Given the description of an element on the screen output the (x, y) to click on. 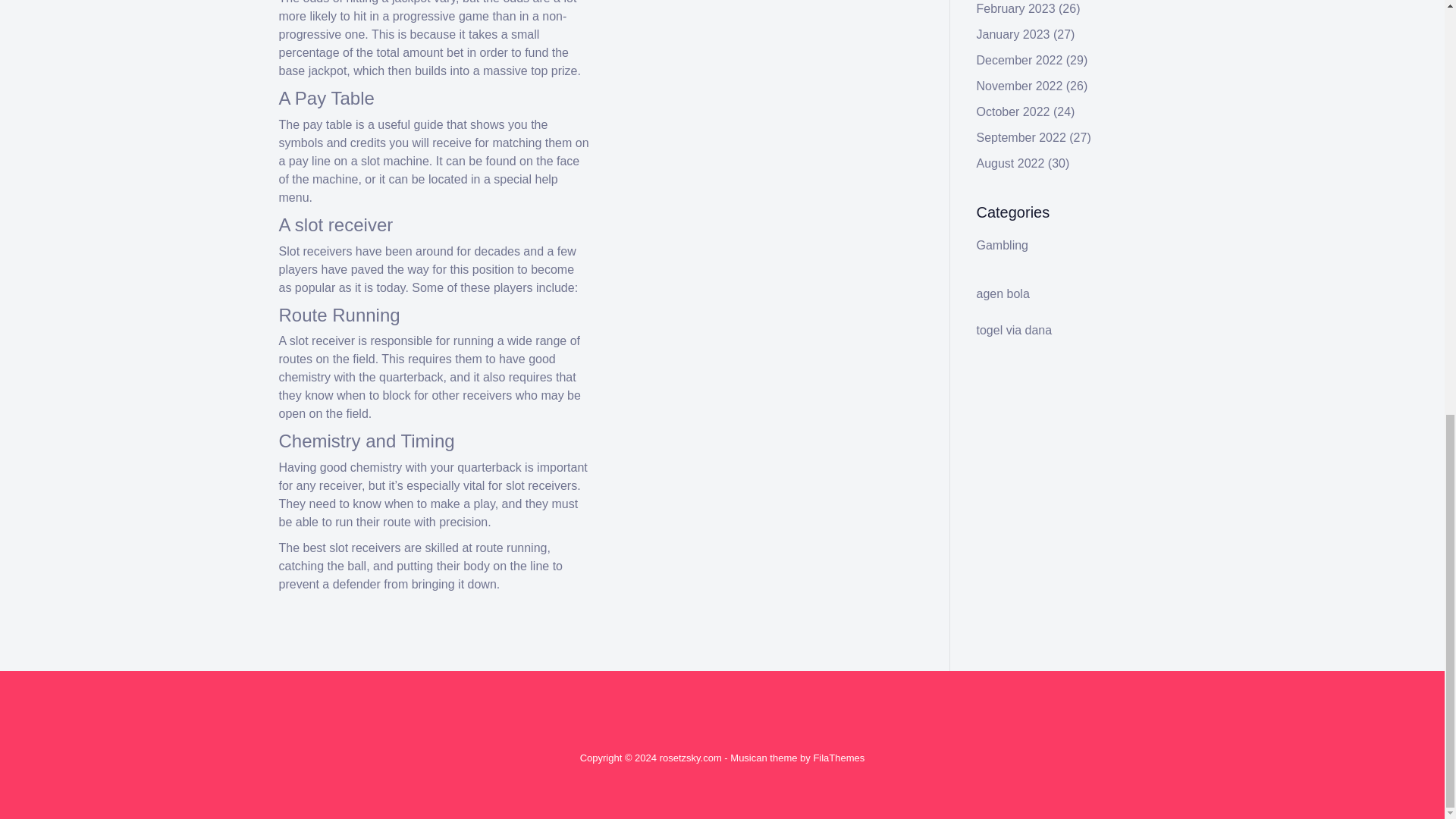
September 2022 (1020, 137)
agen bola (1002, 293)
November 2022 (1019, 85)
October 2022 (1012, 111)
February 2023 (1015, 8)
December 2022 (1019, 60)
January 2023 (1012, 33)
rosetzsky.com (690, 757)
Gambling (1001, 245)
togel via dana (1014, 329)
August 2022 (1010, 163)
